Given the description of an element on the screen output the (x, y) to click on. 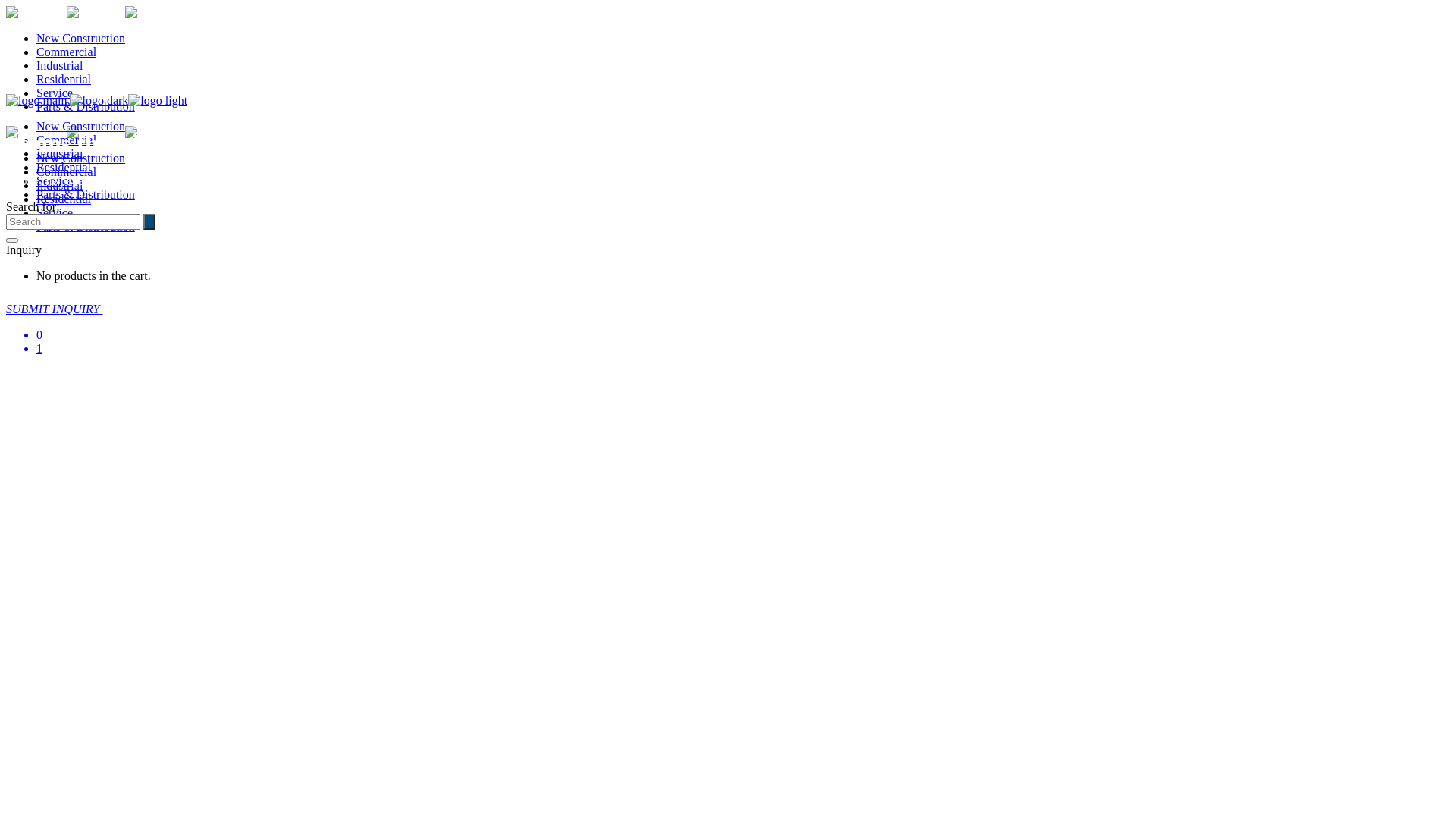
Commercial Element type: text (66, 139)
Commercial Element type: text (66, 51)
New Construction Element type: text (80, 157)
Industrial Element type: text (59, 153)
New Construction Element type: text (80, 37)
Industrial Element type: text (59, 65)
Industrial Element type: text (59, 184)
SUBMIT INQUIRY Element type: text (63, 308)
0
1 Element type: text (727, 354)
Service Element type: text (54, 212)
Parts & Distribution Element type: text (85, 194)
Residential Element type: text (63, 78)
Service Element type: text (54, 92)
Parts & Distribution Element type: text (85, 106)
Residential Element type: text (63, 198)
Parts & Distribution Element type: text (85, 225)
Service Element type: text (54, 180)
New Construction Element type: text (80, 125)
Commercial Element type: text (66, 171)
Residential Element type: text (63, 166)
